Given the description of an element on the screen output the (x, y) to click on. 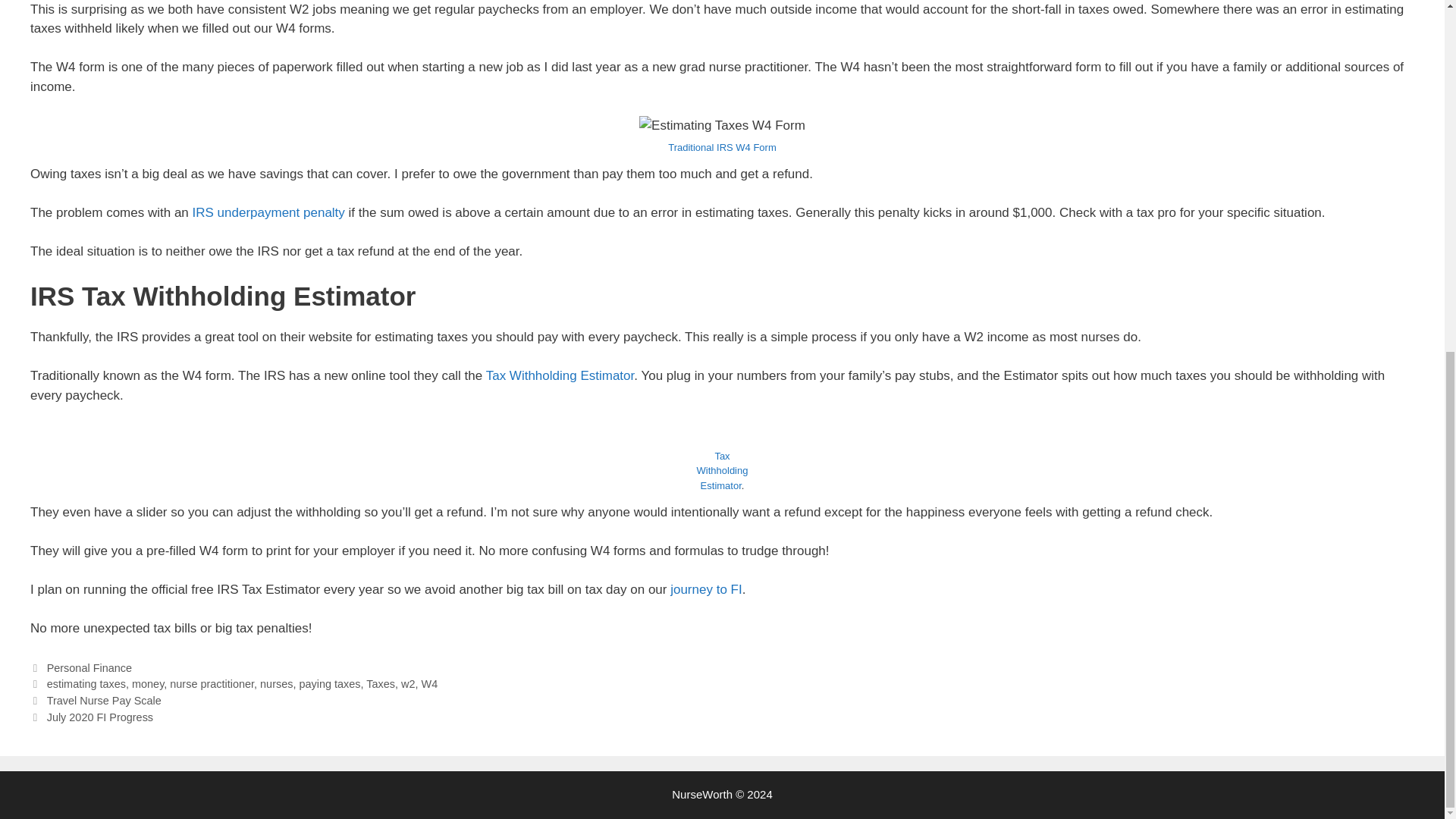
estimating taxes (85, 684)
Estimating Taxes 5 (722, 125)
IRS underpayment penalty (268, 212)
Tax Withholding Estimator (722, 470)
money (147, 684)
w2 (407, 684)
Travel Nurse Pay Scale (103, 700)
W4 (430, 684)
July 2020 FI Progress (99, 717)
journey to FI (705, 589)
Tax Withholding Estimator (560, 375)
Traditional IRS W4 Form (722, 147)
nurse practitioner (211, 684)
Taxes (380, 684)
